Given the description of an element on the screen output the (x, y) to click on. 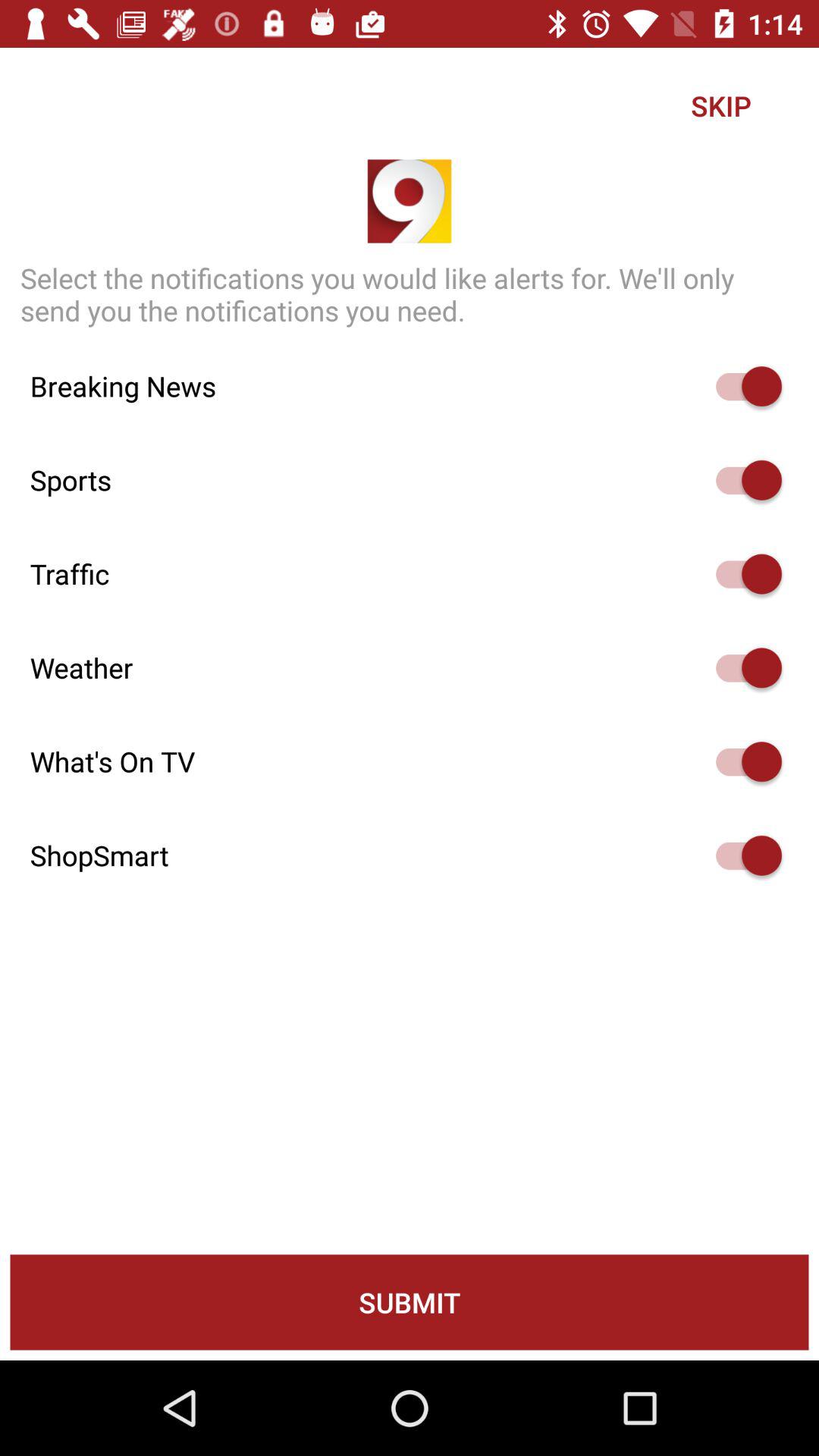
press the item above select the notifications item (720, 105)
